Given the description of an element on the screen output the (x, y) to click on. 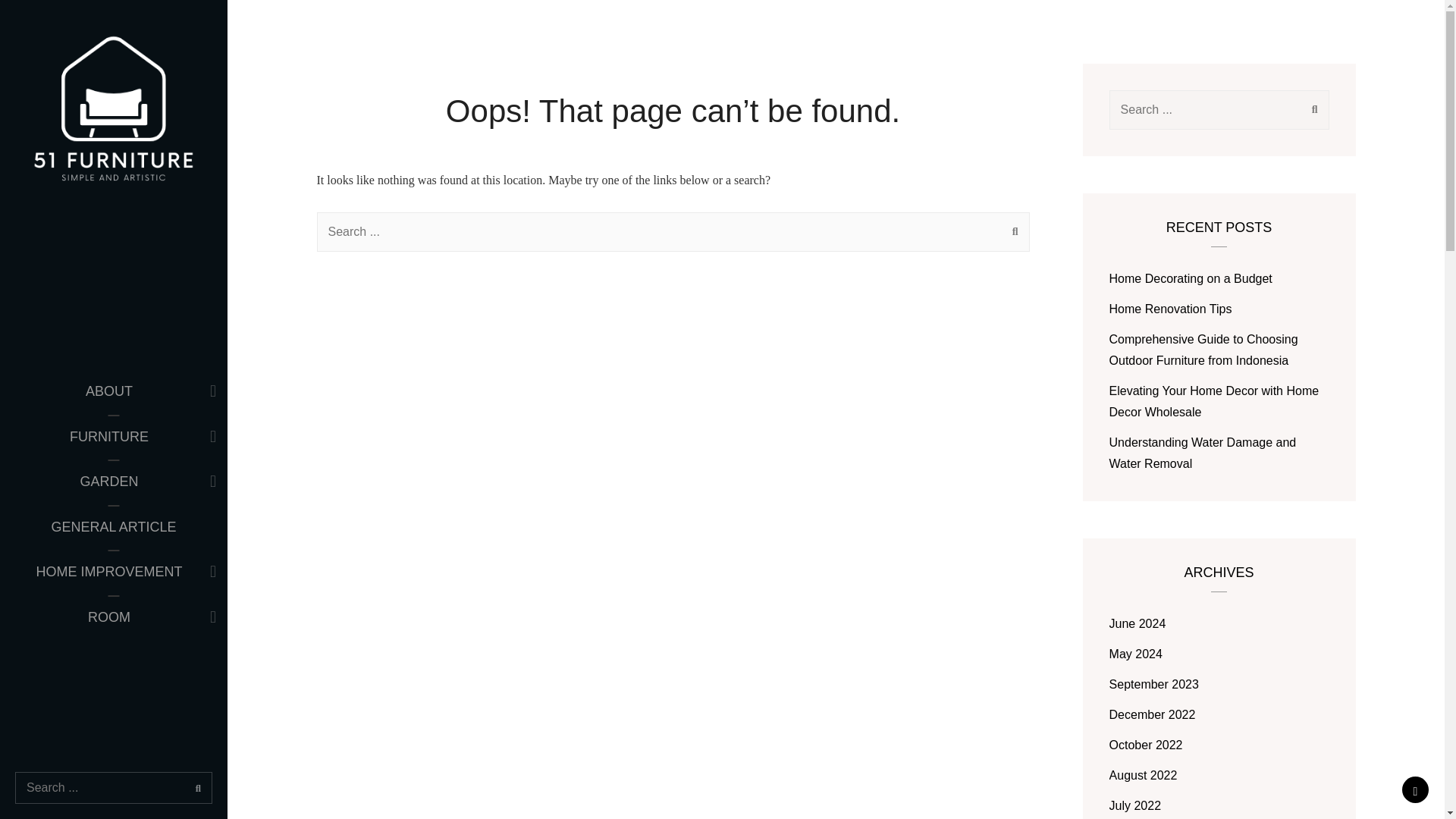
Search for: (113, 787)
FURNITURE (113, 437)
GARDEN (113, 482)
ABOUT (113, 391)
GENERAL ARTICLE (113, 527)
Search for: (1219, 109)
HOME IMPROVEMENT (113, 572)
Search for: (673, 231)
51 FURNITURE (101, 240)
